Given the description of an element on the screen output the (x, y) to click on. 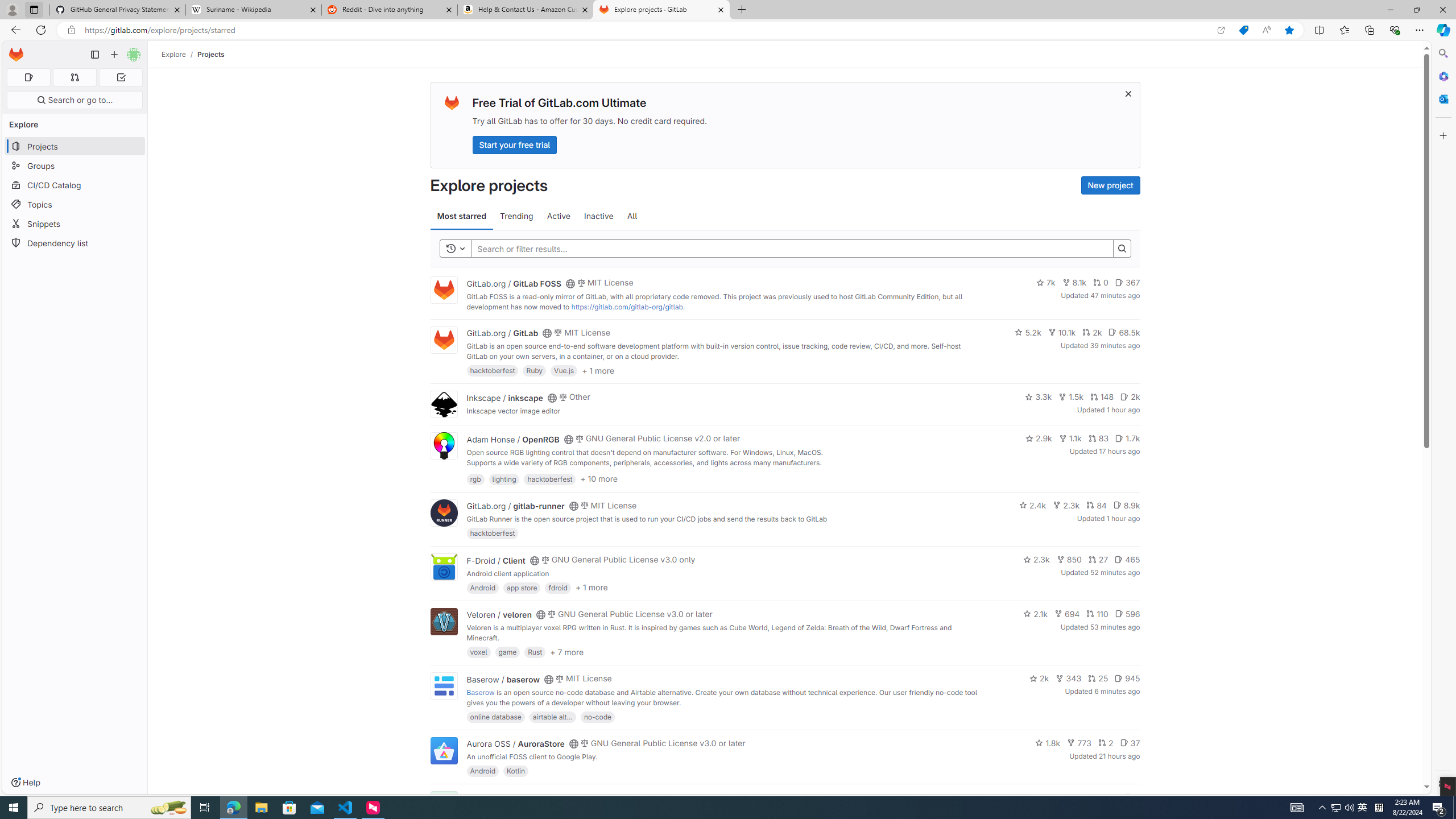
2 (1105, 742)
Adam Honse / OpenRGB (512, 438)
To-Do list 0 (120, 76)
app store (521, 587)
GitLab.org / GitLab FOSS (513, 283)
596 (1127, 613)
2.4k (1032, 504)
Class: project (443, 750)
1.1k (1069, 438)
343 (1068, 678)
